Given the description of an element on the screen output the (x, y) to click on. 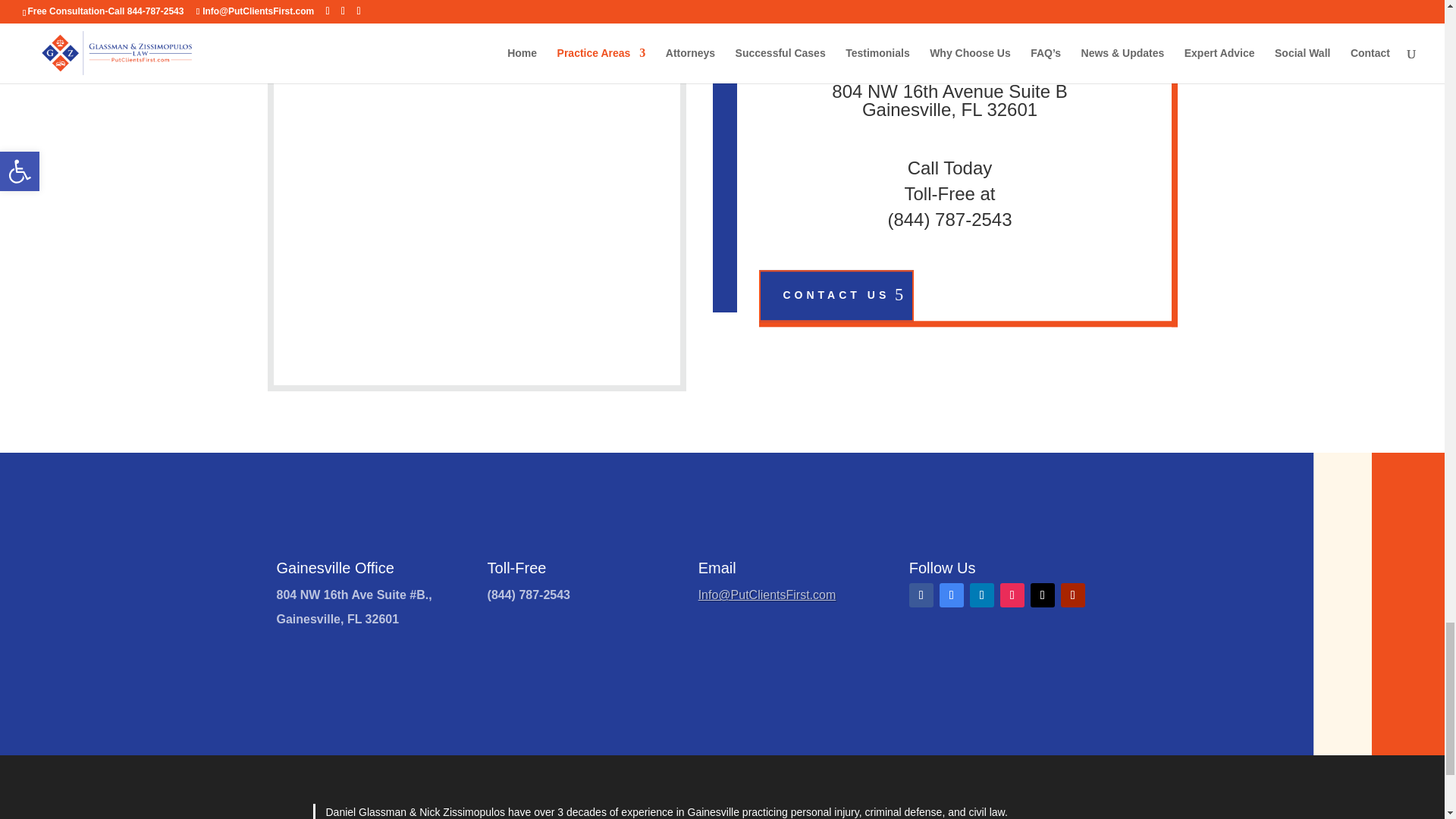
Follow on Youtube (1072, 595)
Follow on Facebook (920, 595)
Follow on LinkedIn (981, 595)
Follow on X (1042, 595)
Follow on Google (951, 595)
Put Clients First 3 (502, 183)
Follow on Instagram (1012, 595)
